Given the description of an element on the screen output the (x, y) to click on. 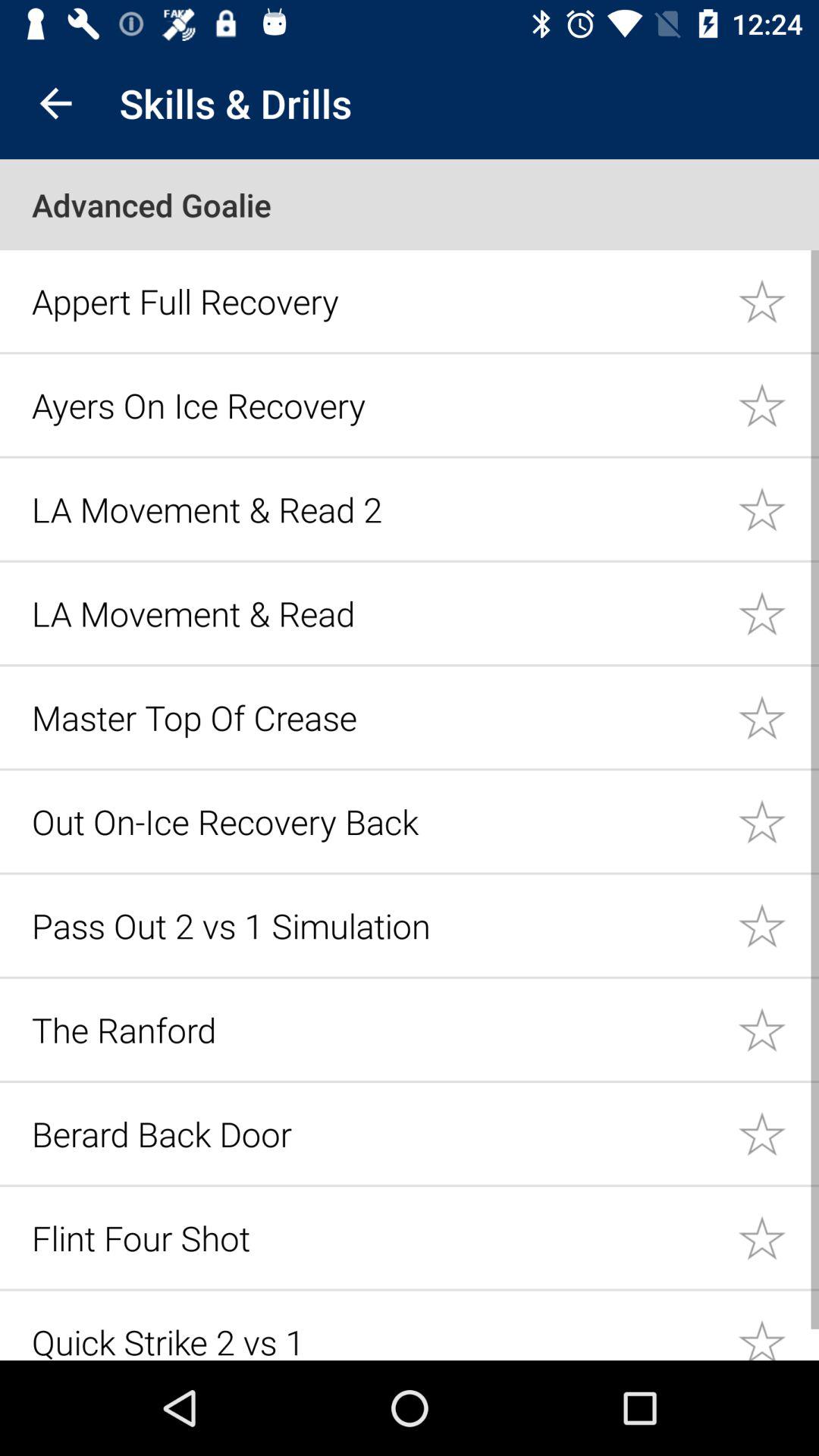
choose icon below the advanced goalie item (376, 301)
